Given the description of an element on the screen output the (x, y) to click on. 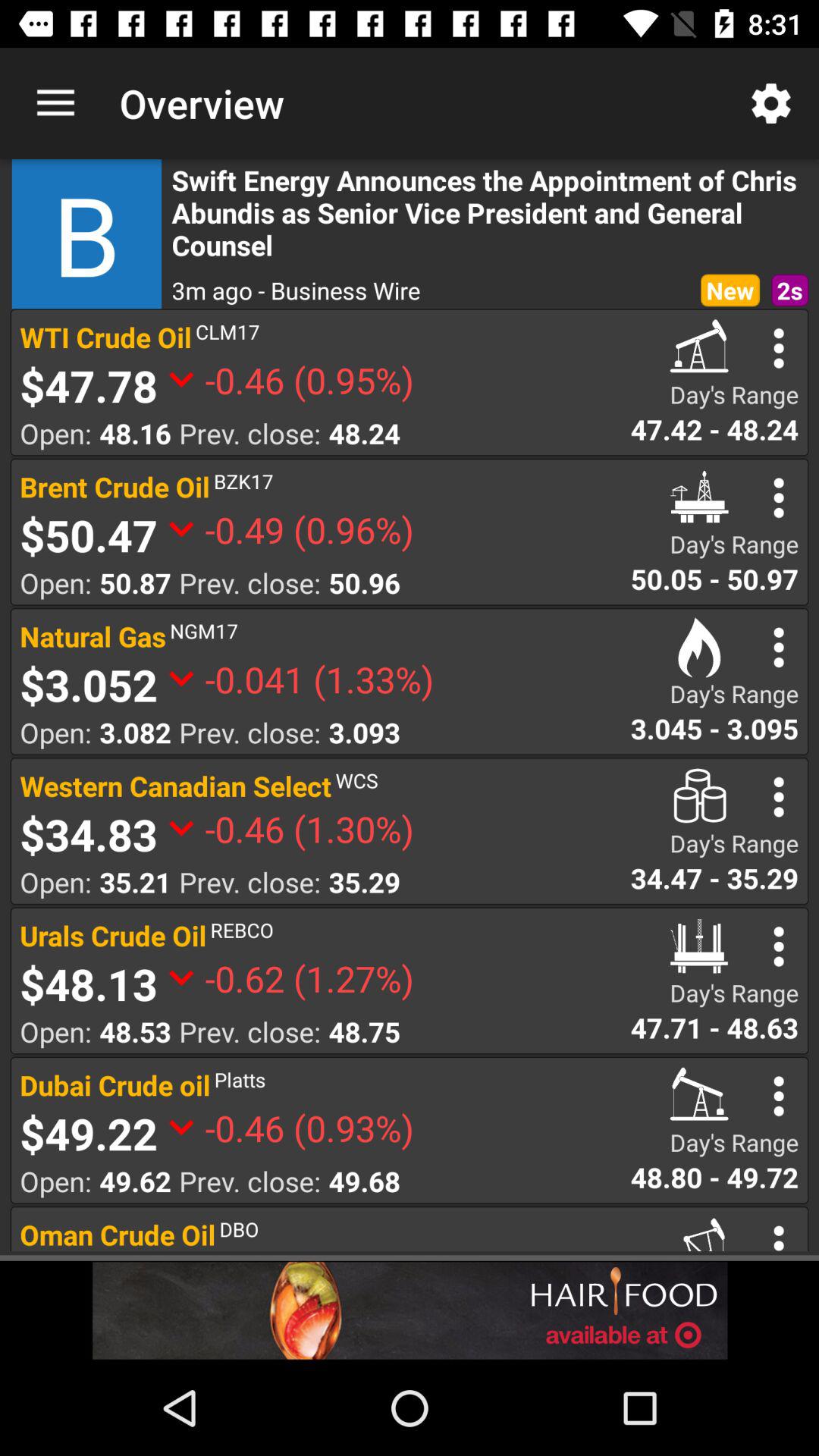
access settings (778, 946)
